Given the description of an element on the screen output the (x, y) to click on. 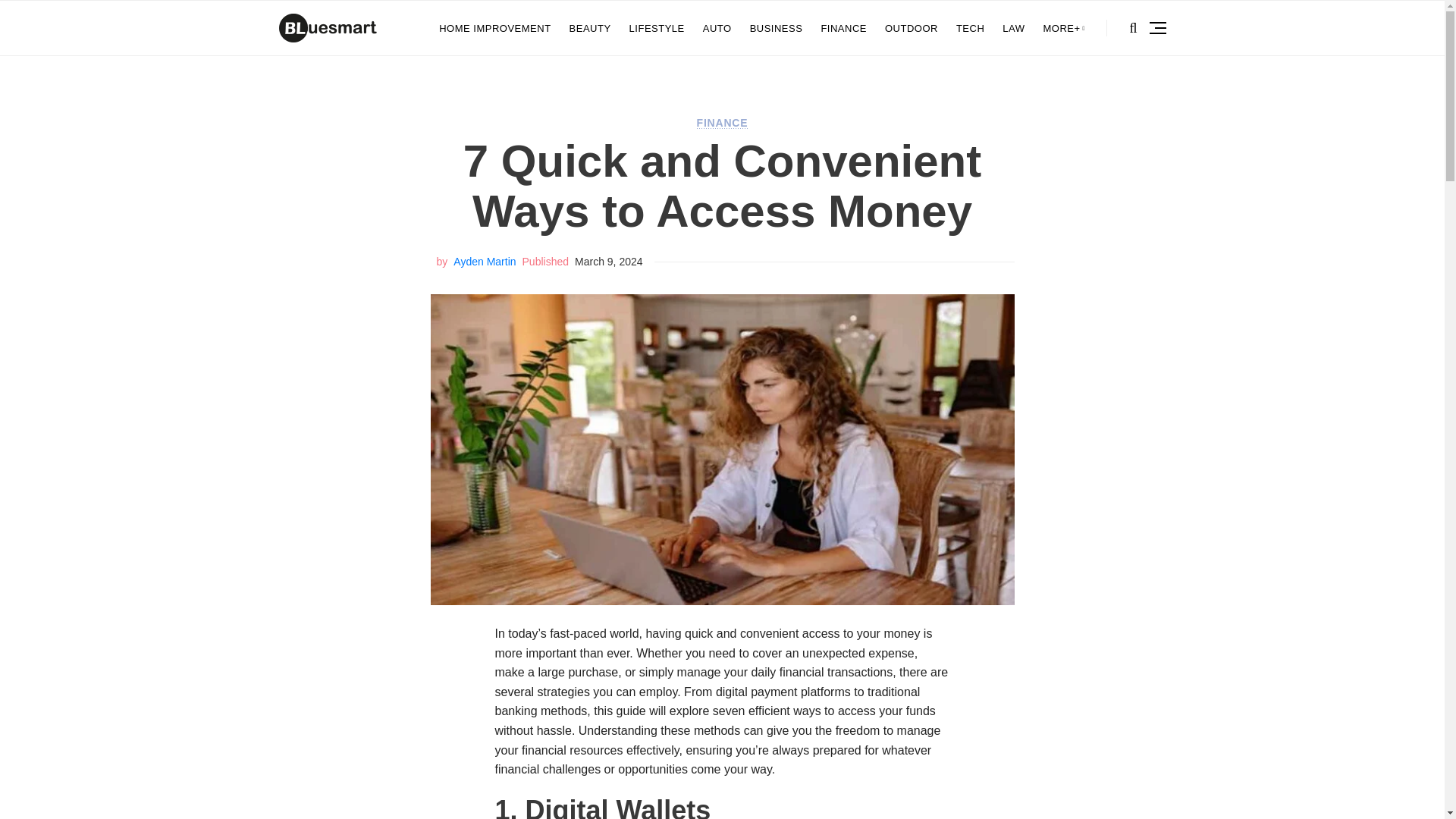
BEAUTY (590, 27)
BUSINESS (776, 27)
FINANCE (843, 27)
HOME IMPROVEMENT (494, 27)
Posts by Ayden Martin (483, 261)
OUTDOOR (911, 27)
FINANCE (722, 122)
Ayden Martin (483, 261)
LIFESTYLE (657, 27)
